Given the description of an element on the screen output the (x, y) to click on. 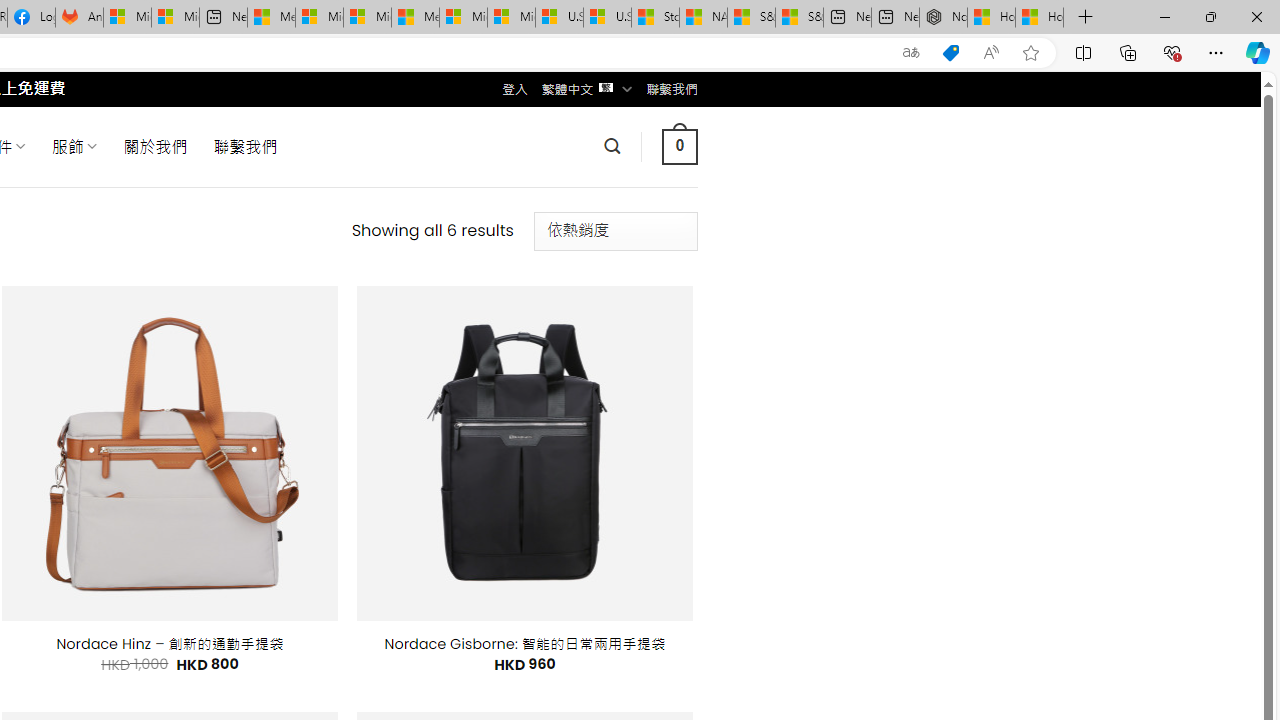
S&P 500, Nasdaq end lower, weighed by Nvidia dip | Watch (799, 17)
